Given the description of an element on the screen output the (x, y) to click on. 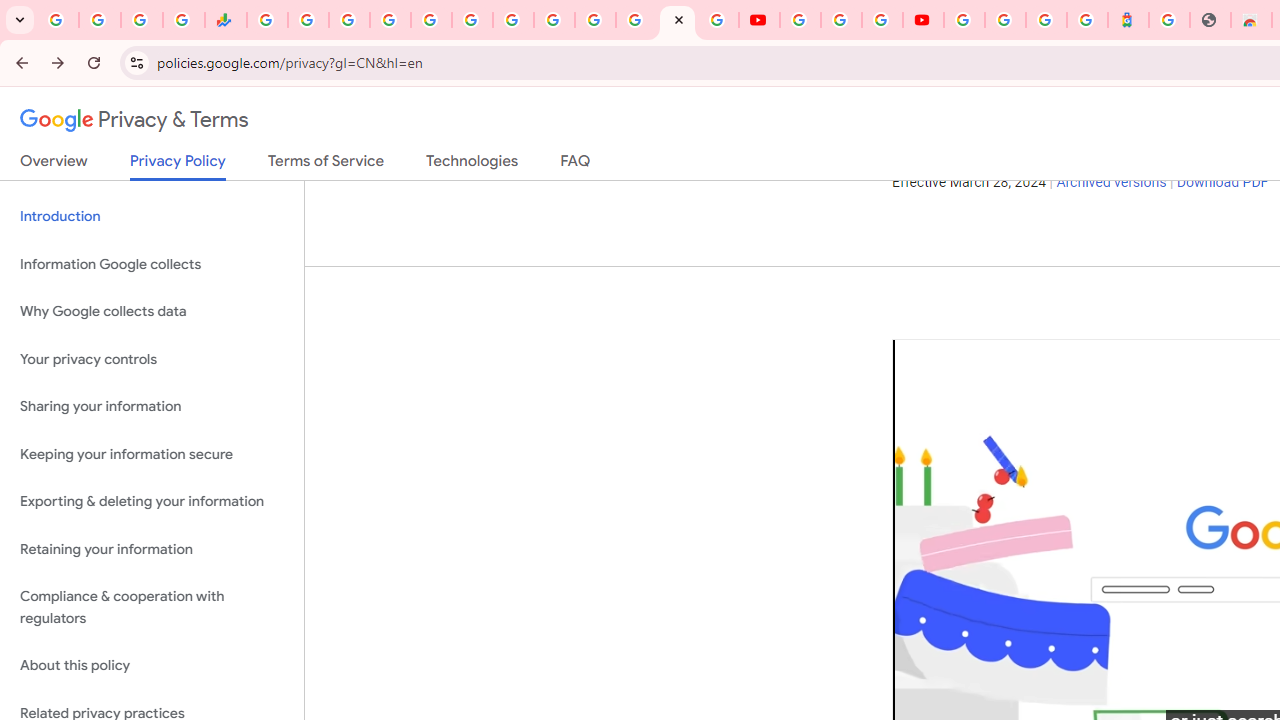
Sharing your information (152, 407)
Download PDF (1222, 183)
Why Google collects data (152, 312)
YouTube (758, 20)
Google Account Help (840, 20)
Sign in - Google Accounts (594, 20)
Retaining your information (152, 548)
Compliance & cooperation with regulators (152, 607)
